Given the description of an element on the screen output the (x, y) to click on. 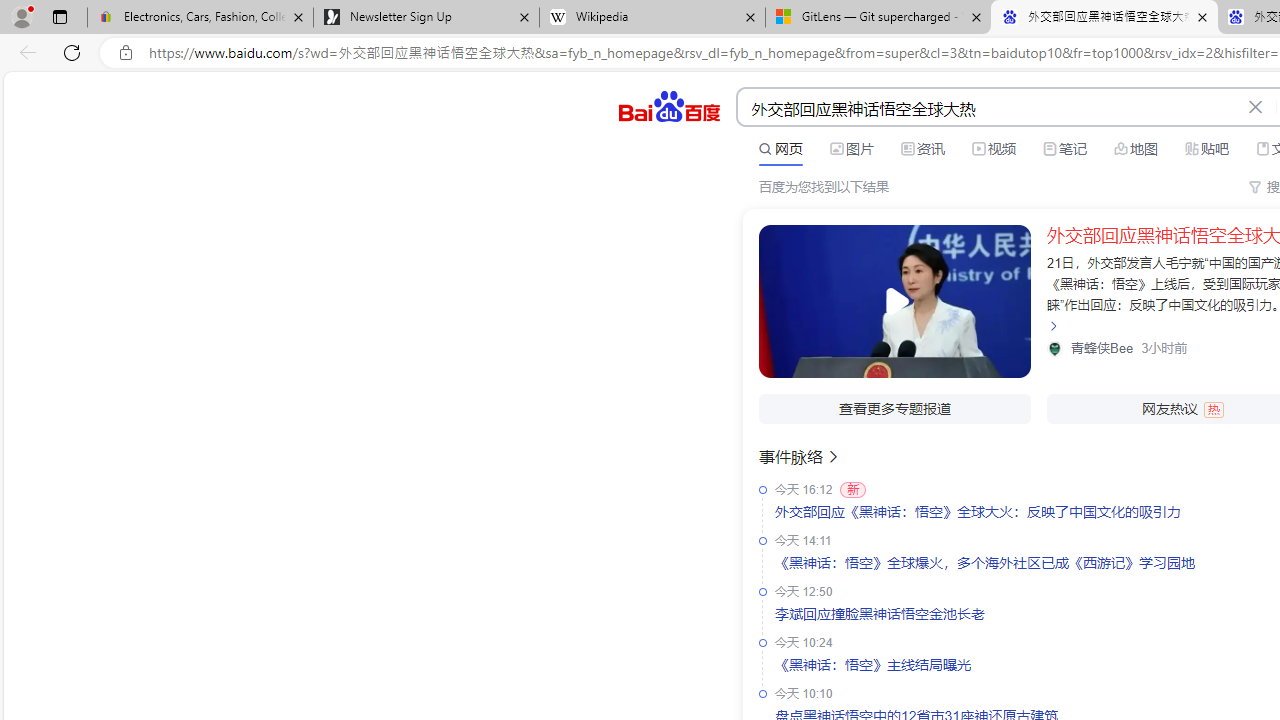
Wikipedia (652, 17)
AutomationID: kw (989, 107)
Newsletter Sign Up (425, 17)
